Given the description of an element on the screen output the (x, y) to click on. 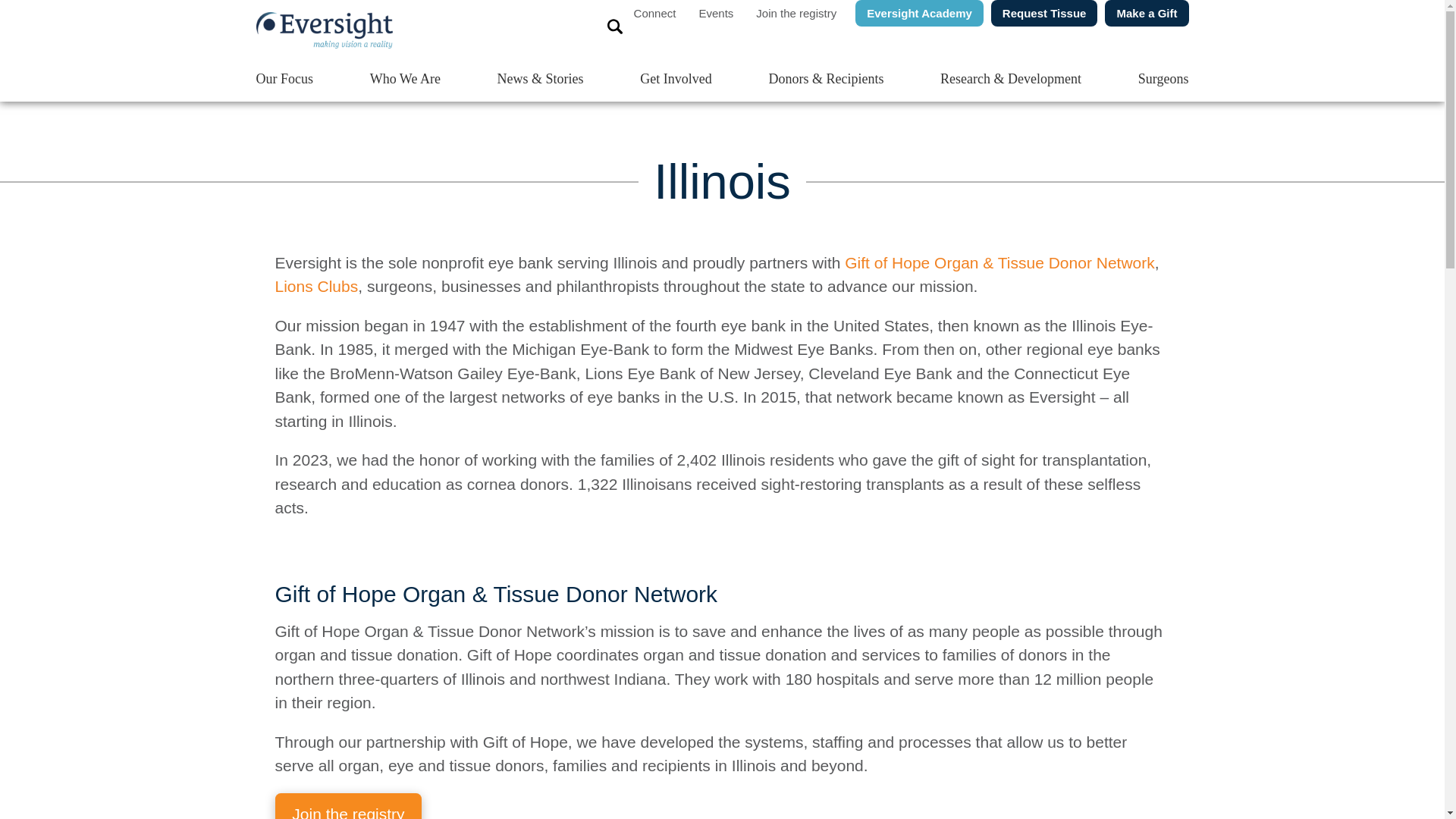
Events (715, 13)
Our Focus (285, 78)
Eversight Academy (915, 13)
Make a Gift (1142, 13)
Who We Are (405, 78)
Join the registry (795, 13)
Connect (655, 13)
Request Tissue (1040, 13)
Get Involved (675, 78)
